Given the description of an element on the screen output the (x, y) to click on. 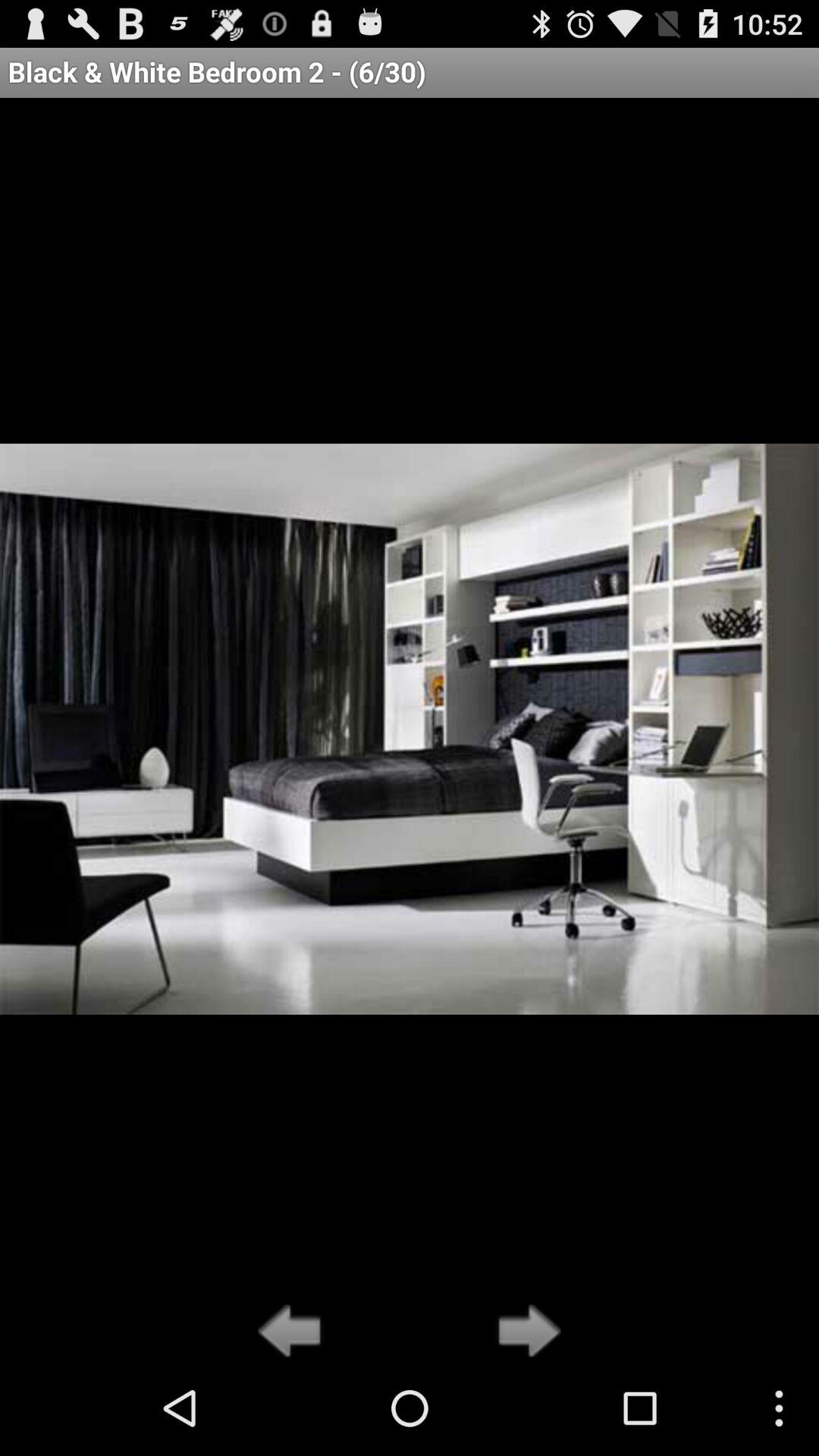
go forward to next picture (524, 1332)
